Given the description of an element on the screen output the (x, y) to click on. 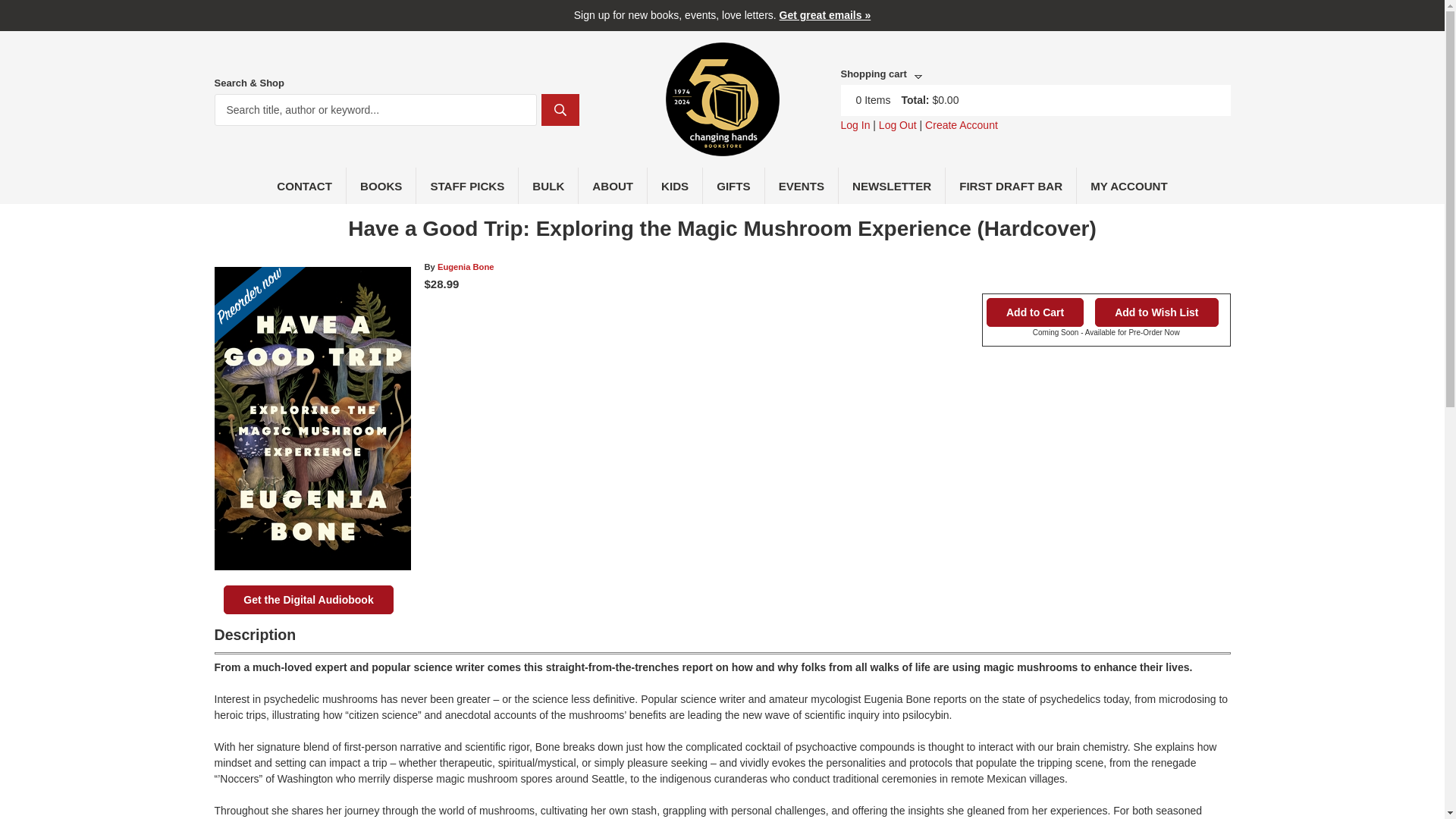
Add to Cart (1035, 312)
Log Out (898, 124)
BULK (548, 185)
STAFF PICKS (467, 185)
BOOKS (381, 185)
Create Account (960, 124)
Get the Digital Audiobook (308, 599)
Search title, author or keyword... (374, 110)
CONTACT (304, 185)
Search (560, 110)
Log In (854, 124)
ABOUT (612, 185)
Home page (721, 147)
Search (560, 110)
